Given the description of an element on the screen output the (x, y) to click on. 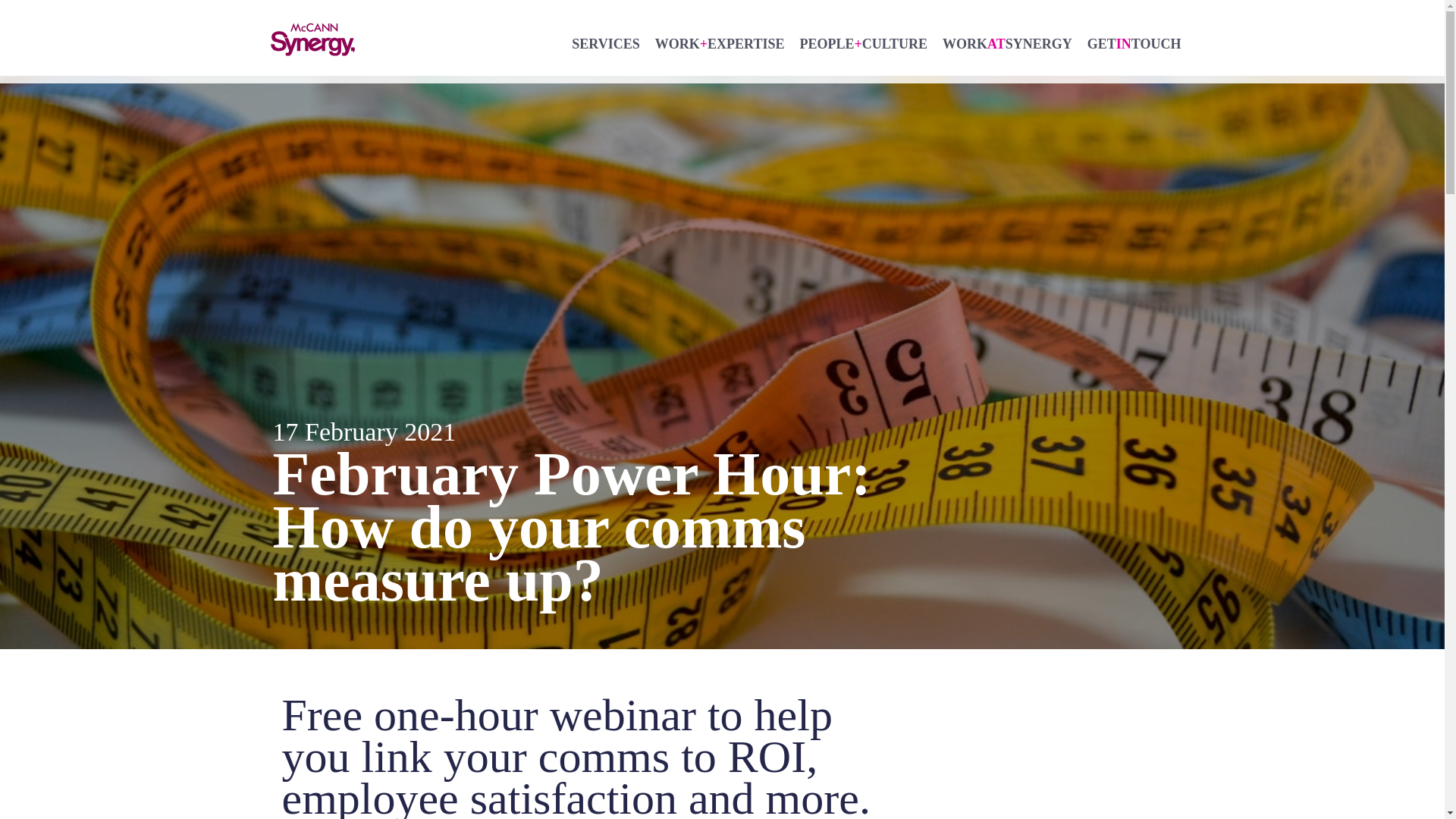
SERVICES (605, 41)
GETINTOUCH (1134, 41)
WORKATSYNERGY (1007, 41)
